Given the description of an element on the screen output the (x, y) to click on. 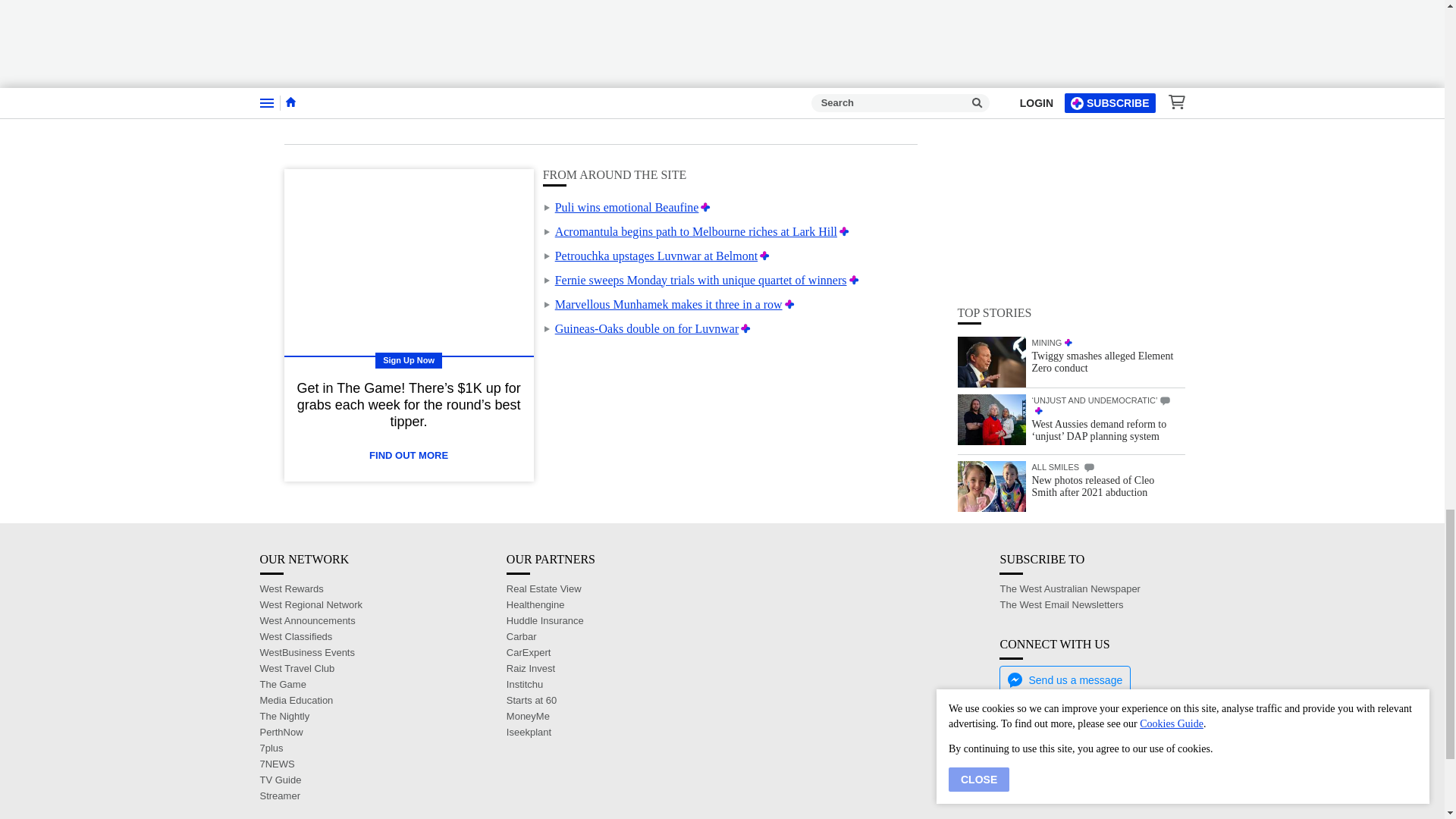
Premium (853, 279)
Premium (844, 231)
Premium (745, 328)
Premium (789, 304)
Premium (764, 255)
Premium (704, 206)
